Given the description of an element on the screen output the (x, y) to click on. 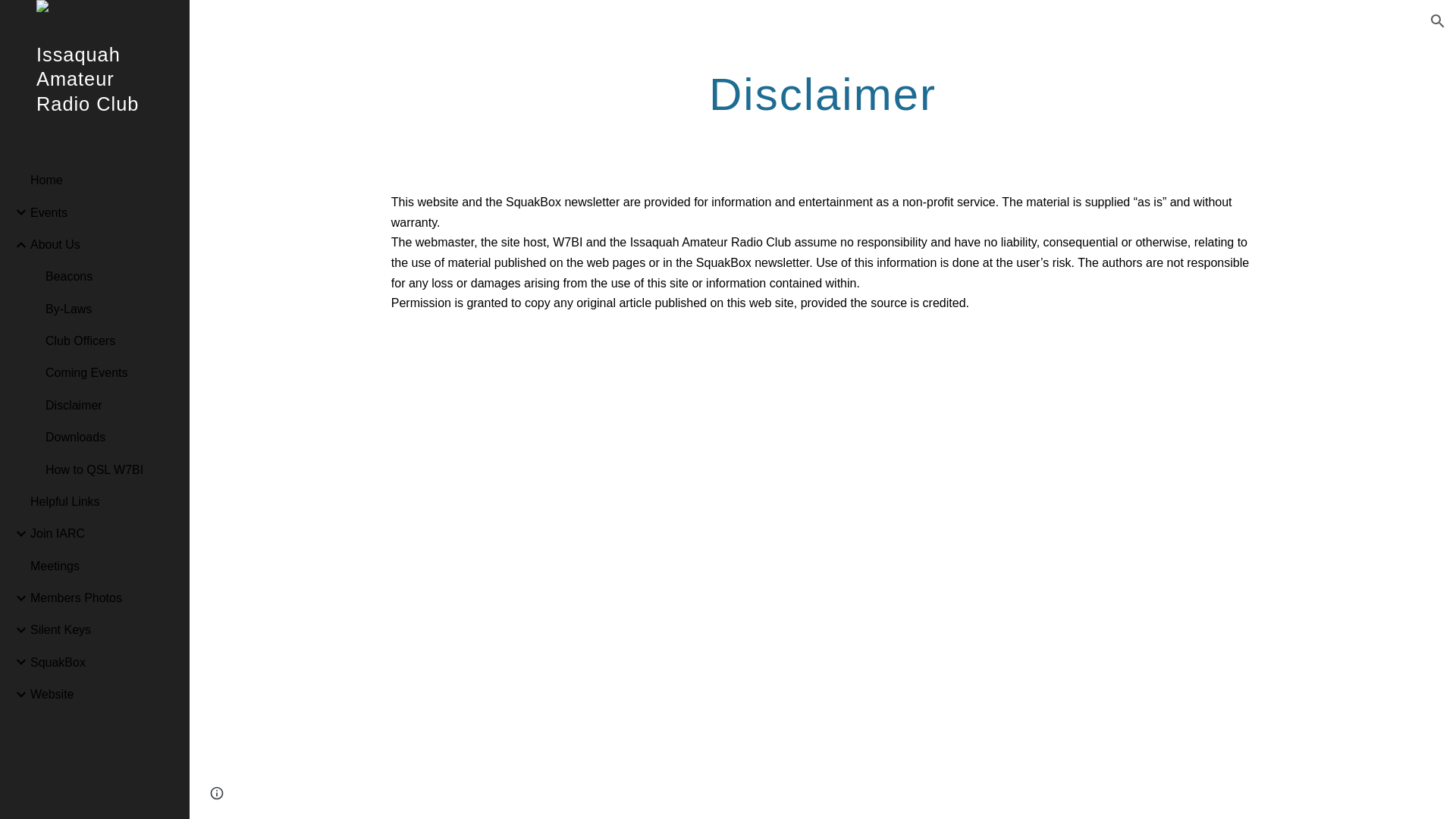
About Us (103, 244)
How to QSL W7BI (111, 469)
Events (103, 212)
Join IARC (103, 533)
Home (103, 180)
Coming Events (111, 373)
By-Laws (111, 308)
Beacons (111, 276)
Downloads (111, 437)
Disclaimer (111, 404)
Club Officers (111, 341)
Helpful Links (103, 500)
Issaquah Amateur Radio Club (94, 98)
